Given the description of an element on the screen output the (x, y) to click on. 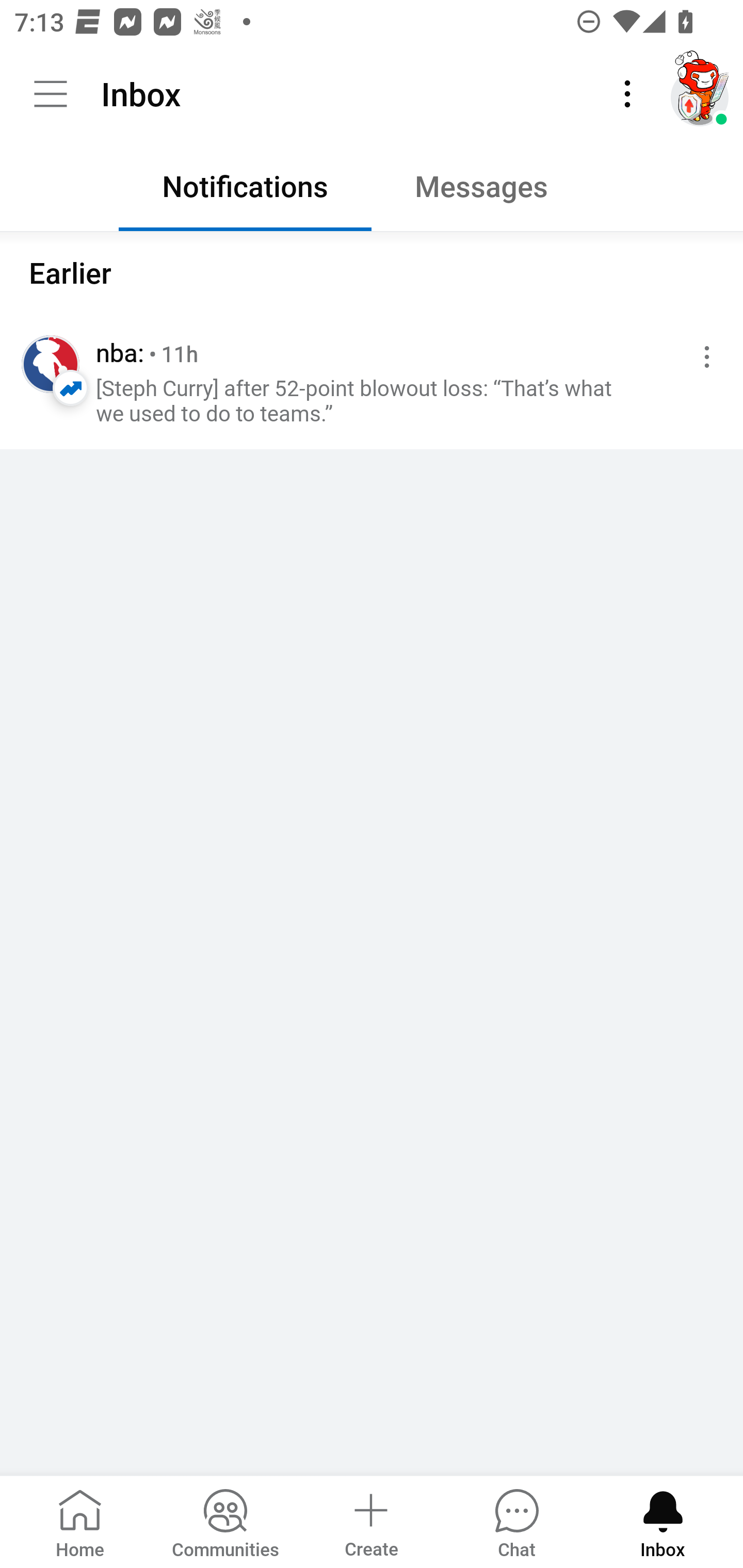
Community menu (50, 93)
More (626, 93)
TestAppium002 account (699, 93)
Messages (497, 191)
More options (703, 356)
Home (80, 1520)
Communities (225, 1520)
Create a post Create (370, 1520)
Chat (516, 1520)
Inbox (662, 1520)
